Given the description of an element on the screen output the (x, y) to click on. 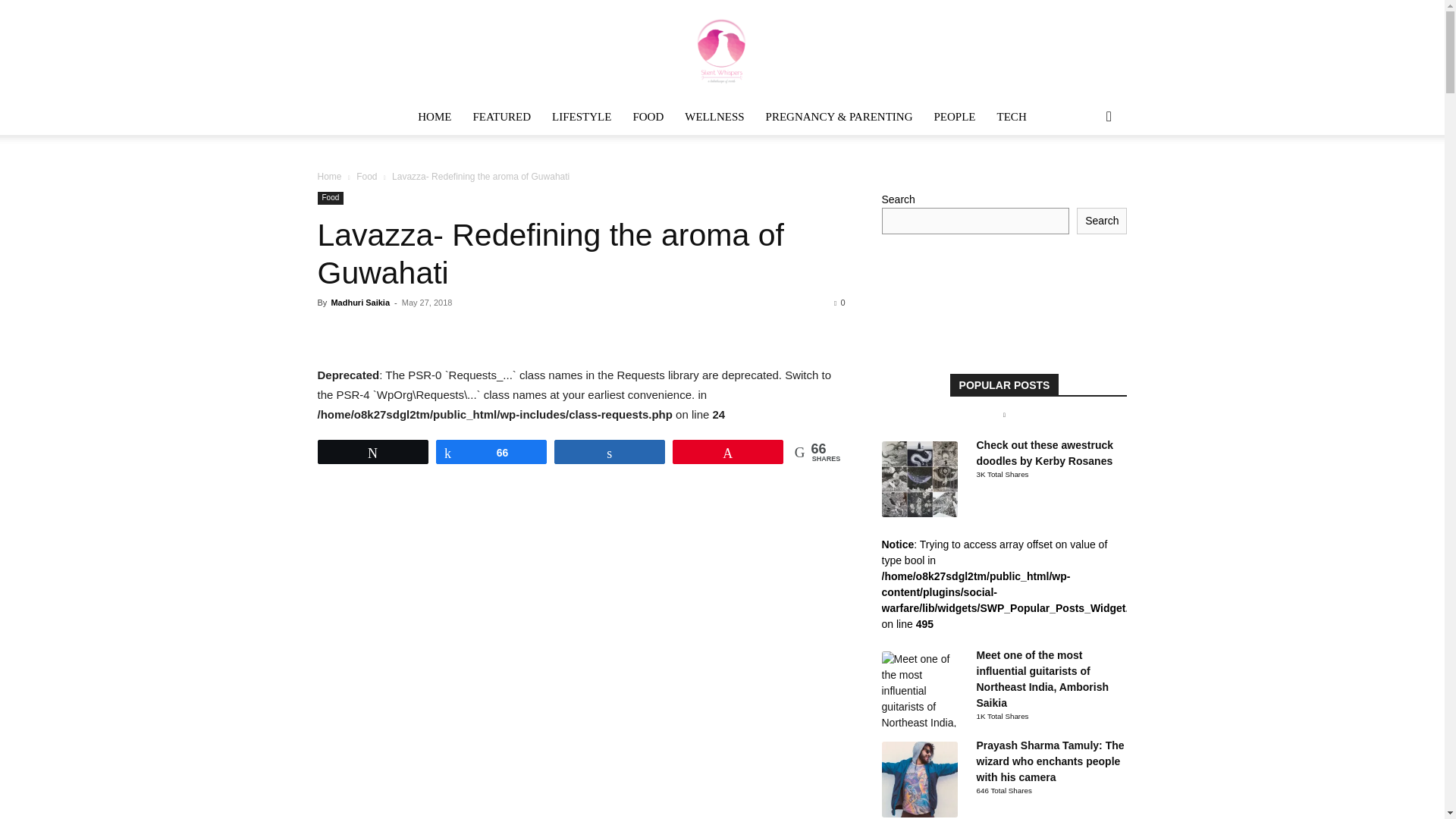
FOOD (647, 116)
HOME (434, 116)
Silent Whispers logo (721, 50)
LIFESTYLE (581, 116)
FEATURED (501, 116)
View all posts in Food (366, 176)
WELLNESS (714, 116)
